Given the description of an element on the screen output the (x, y) to click on. 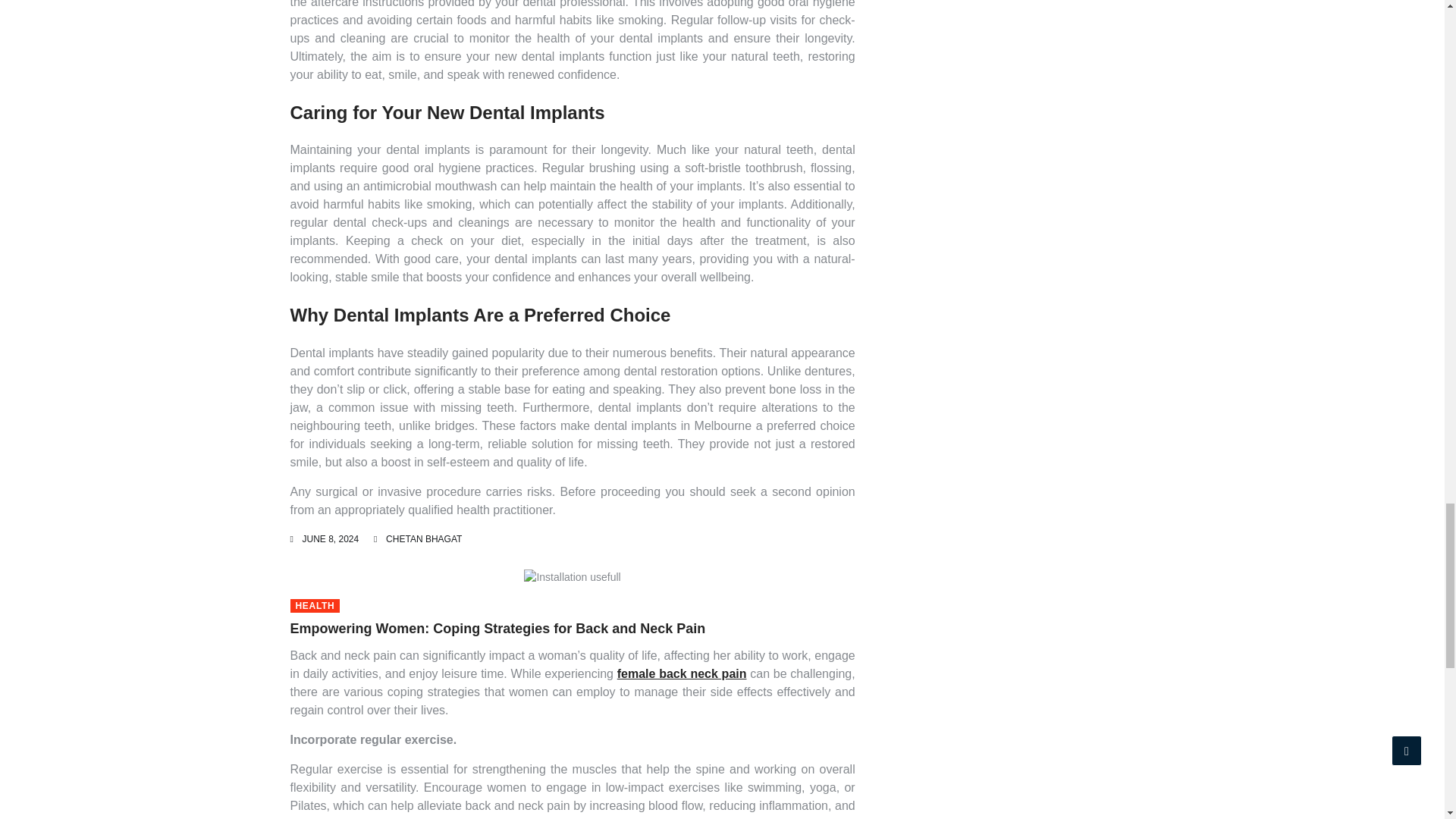
Empowering Women: Coping Strategies for Back and Neck Pain (496, 628)
female back neck pain (681, 673)
HEALTH (314, 605)
JUNE 8, 2024 (329, 538)
CHETAN BHAGAT (423, 538)
